Given the description of an element on the screen output the (x, y) to click on. 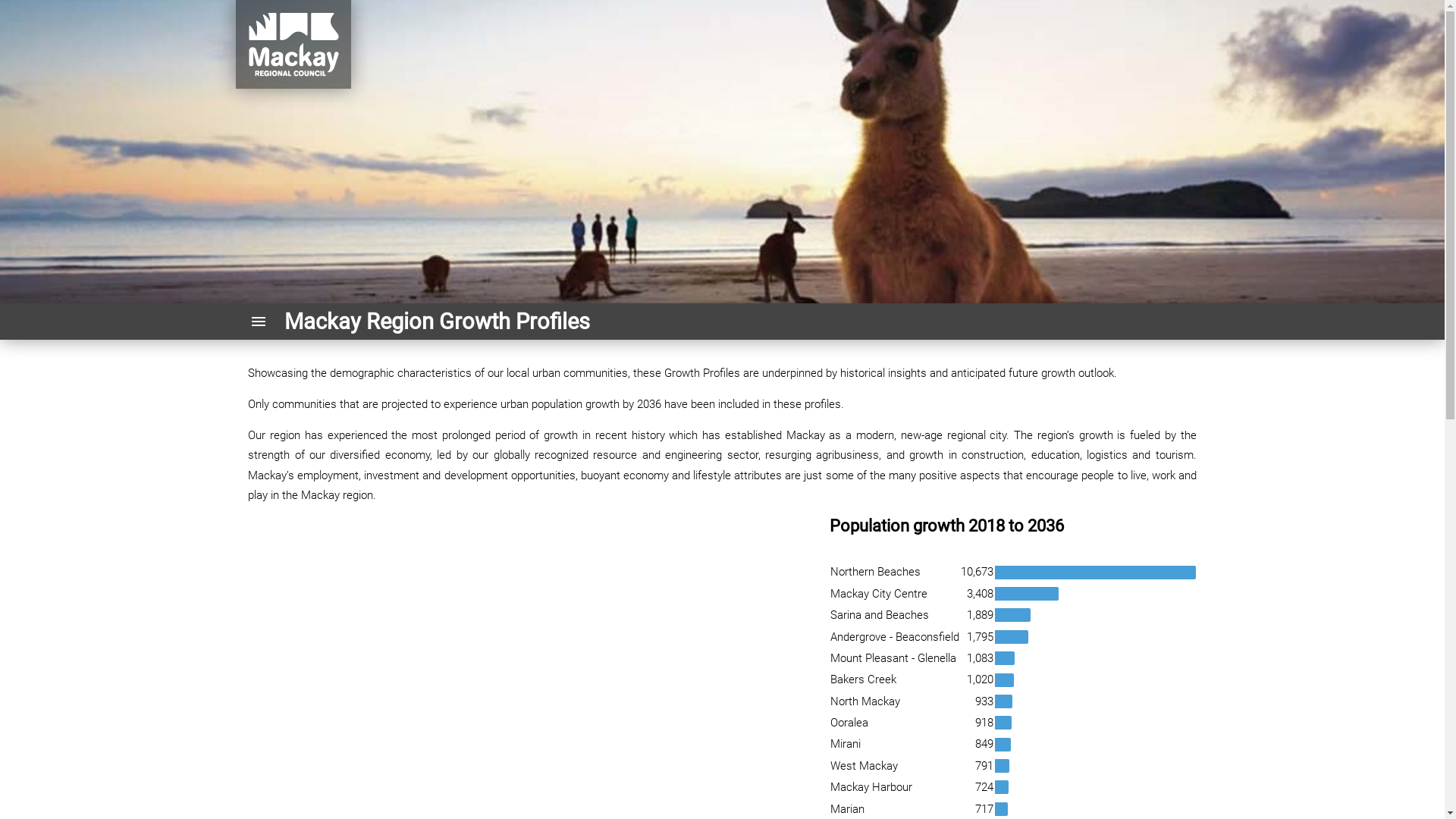
Bakers Creek Element type: text (863, 679)
Northern Beaches Element type: text (875, 571)
Mackay City Centre Element type: text (878, 593)
West Mackay Element type: text (863, 765)
Sarina and Beaches Element type: text (879, 614)
Mount Pleasant - Glenella Element type: text (893, 658)
Ooralea Element type: text (849, 722)
North Mackay Element type: text (865, 701)
Mirani Element type: text (845, 743)
Marian Element type: text (847, 808)
Andergrove - Beaconsfield Element type: text (894, 636)
Mackay Harbour Element type: text (871, 786)
